Given the description of an element on the screen output the (x, y) to click on. 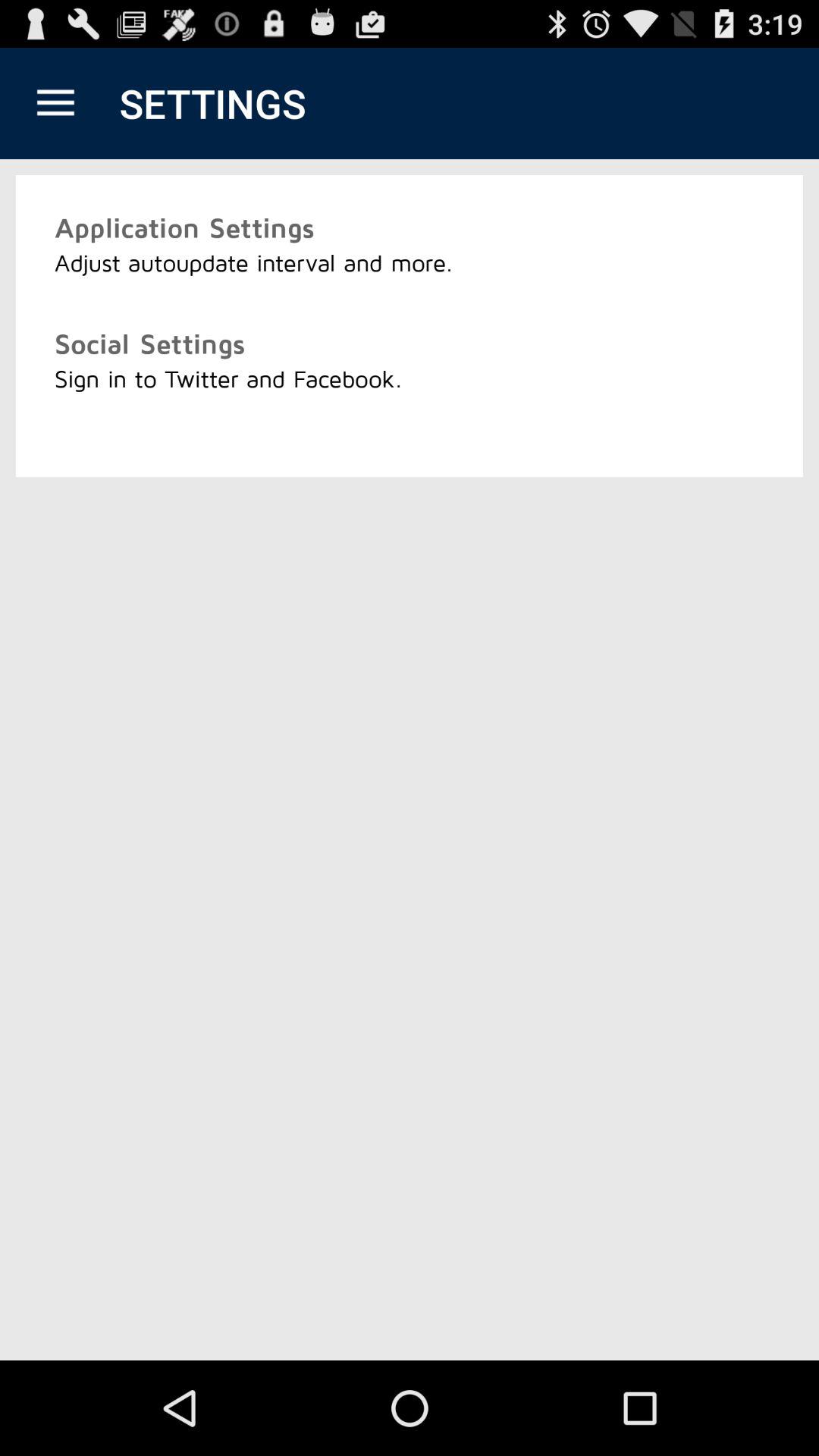
menu option (55, 103)
